Given the description of an element on the screen output the (x, y) to click on. 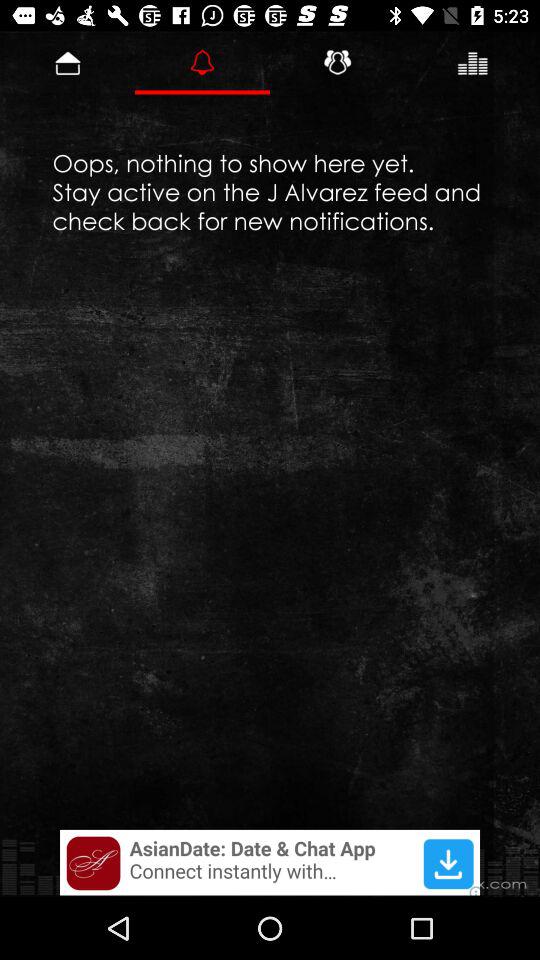
adverts (270, 862)
